Given the description of an element on the screen output the (x, y) to click on. 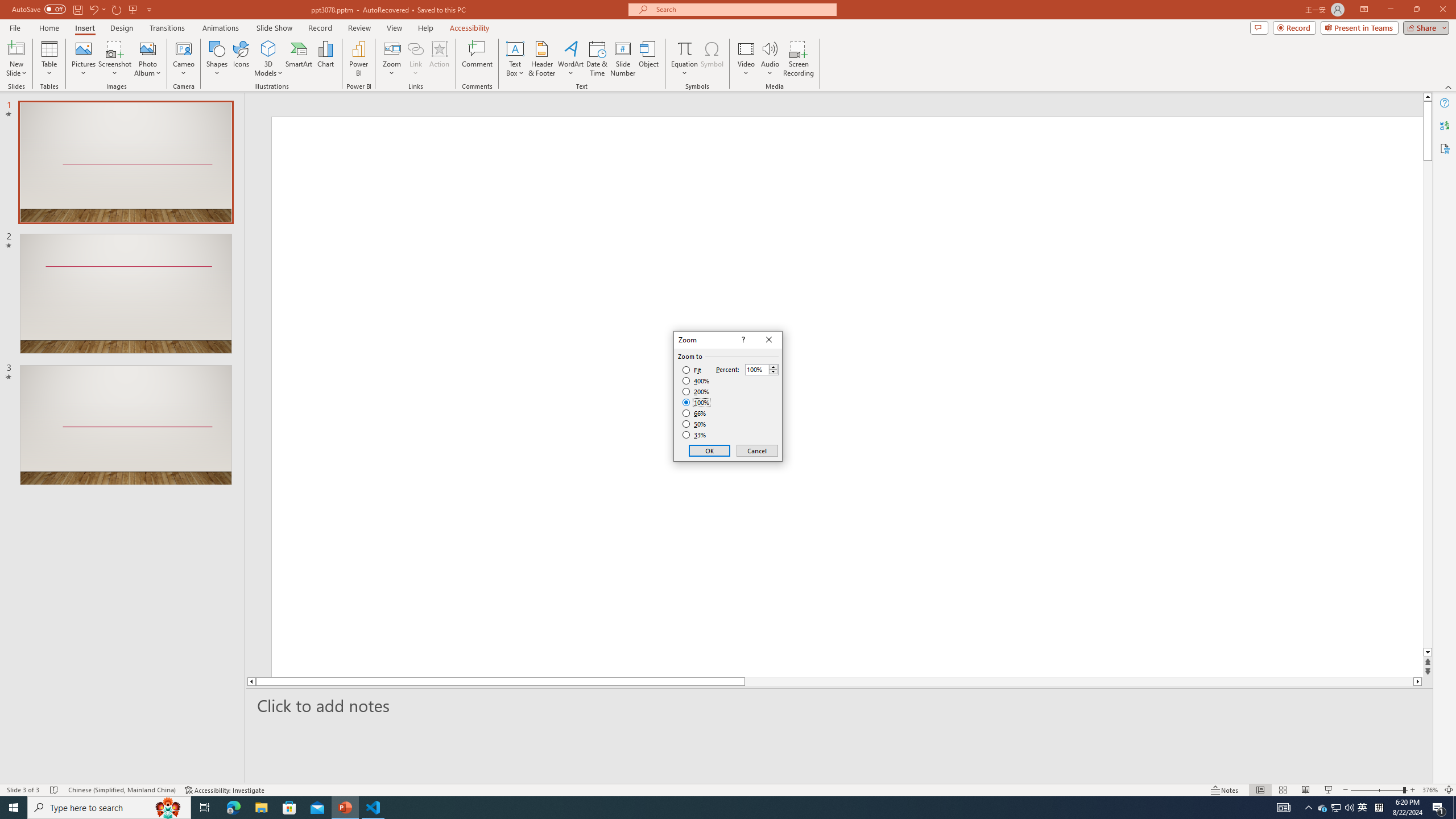
Screen Recording... (798, 58)
Percent (761, 369)
An abstract genetic concept (363, 526)
Date & Time... (596, 58)
66% (694, 412)
50% (694, 424)
